Given the description of an element on the screen output the (x, y) to click on. 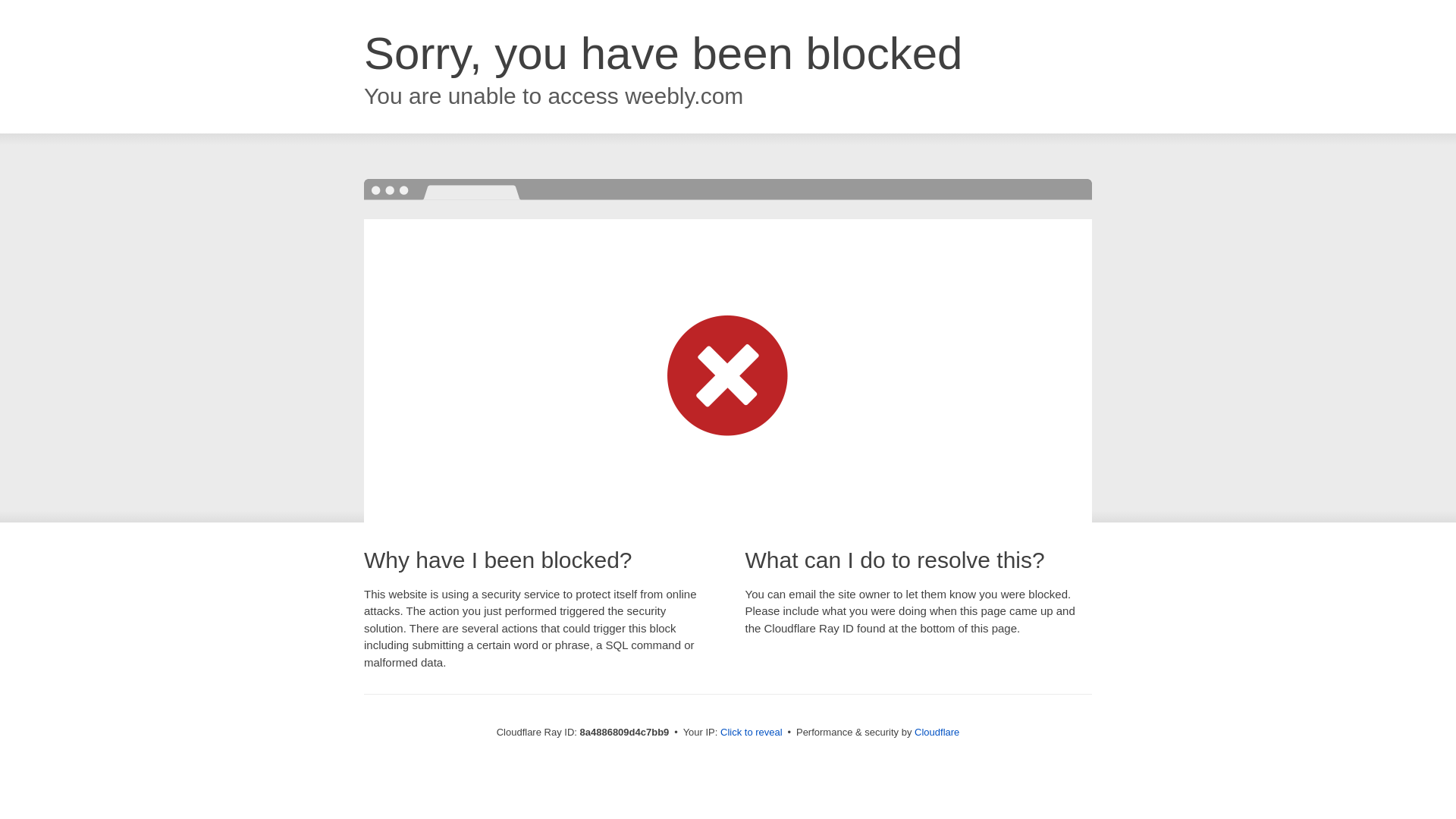
Cloudflare (936, 731)
Click to reveal (751, 732)
